Given the description of an element on the screen output the (x, y) to click on. 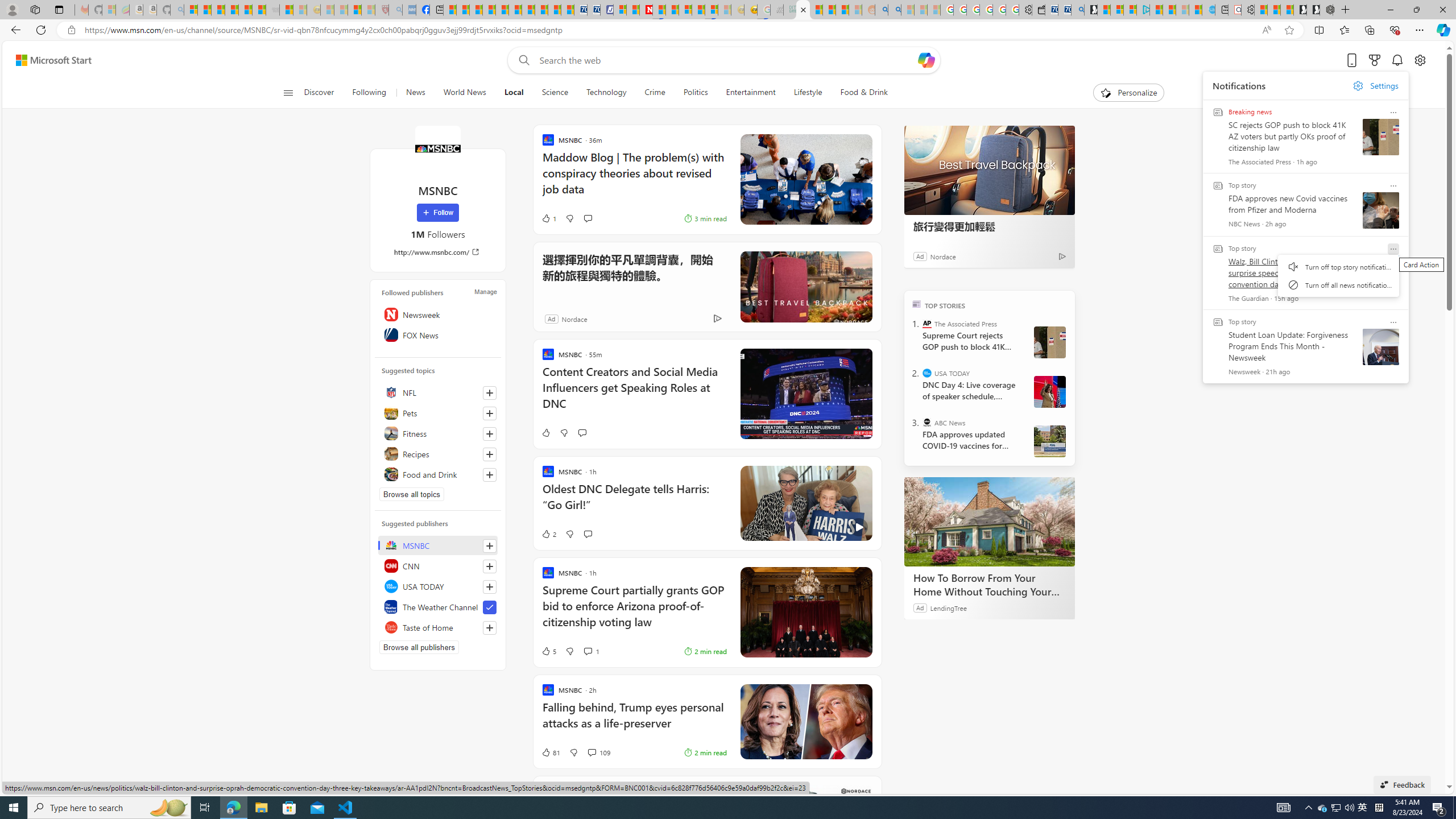
12 Popular Science Lies that Must be Corrected - Sleeping (368, 9)
Follow this source (489, 627)
81 Like (549, 752)
Class: hero-image (805, 503)
LendingTree (948, 607)
